Given the description of an element on the screen output the (x, y) to click on. 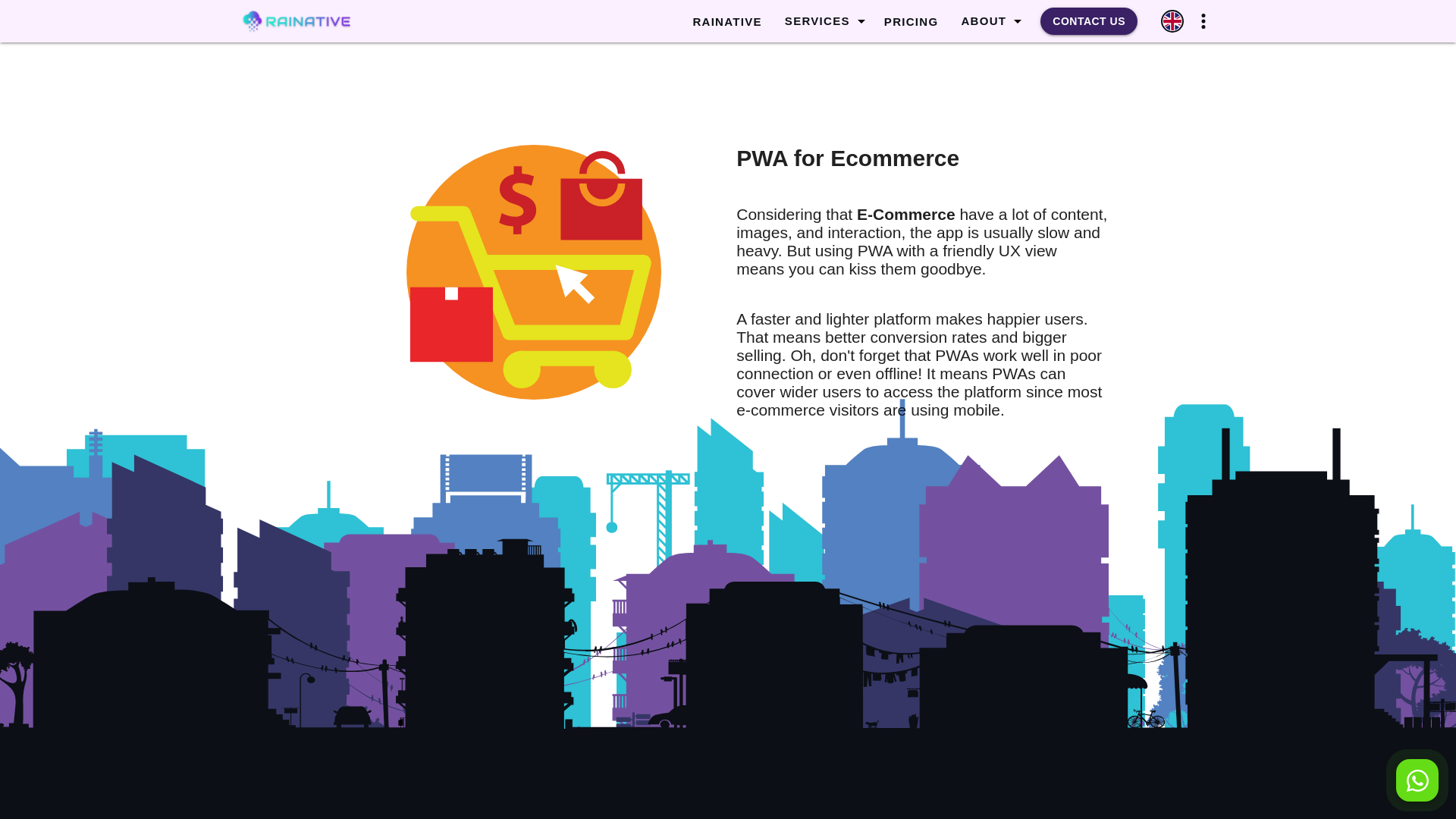
Translate This Page (1172, 21)
Action Button (1417, 780)
Raninative (328, 21)
CONTACT US (1089, 21)
PRICING (911, 21)
SERVICES (817, 21)
RAINATIVE (727, 21)
More Menu (1203, 21)
ABOUT (983, 21)
